Given the description of an element on the screen output the (x, y) to click on. 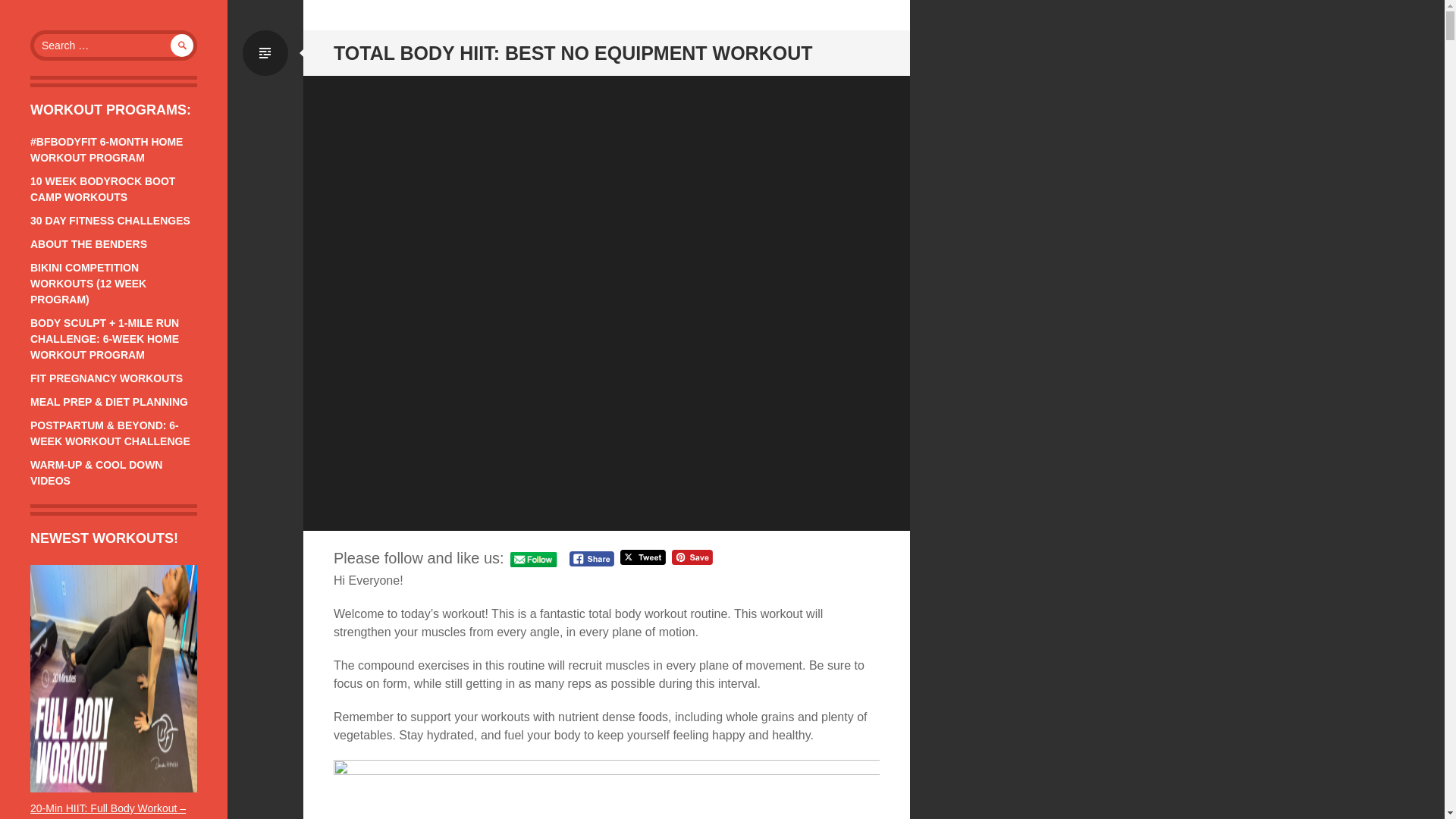
10 WEEK BODYROCK BOOT CAMP WORKOUTS (102, 189)
ABOUT THE BENDERS (88, 244)
Pin Share (692, 557)
Facebook Share (591, 558)
Tweet (642, 557)
FIT PREGNANCY WORKOUTS (106, 378)
30 DAY FITNESS CHALLENGES (110, 220)
Search for: (113, 45)
